Given the description of an element on the screen output the (x, y) to click on. 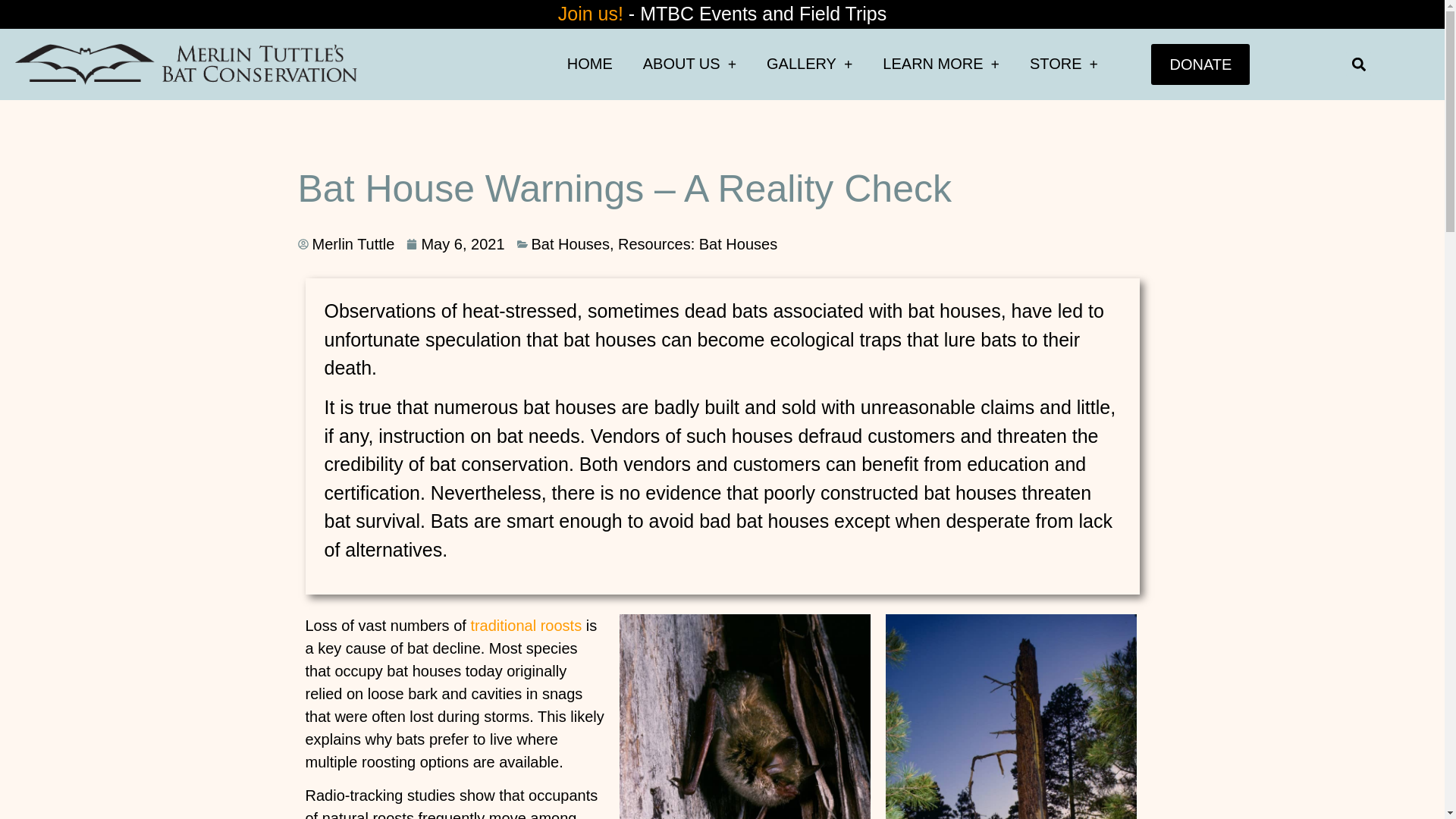
LEARN MORE (940, 63)
GALLERY (809, 63)
ABOUT US (689, 63)
STORE (1063, 63)
Join us! - MTBC Events and Field Trips (721, 13)
HOME (589, 63)
